Given the description of an element on the screen output the (x, y) to click on. 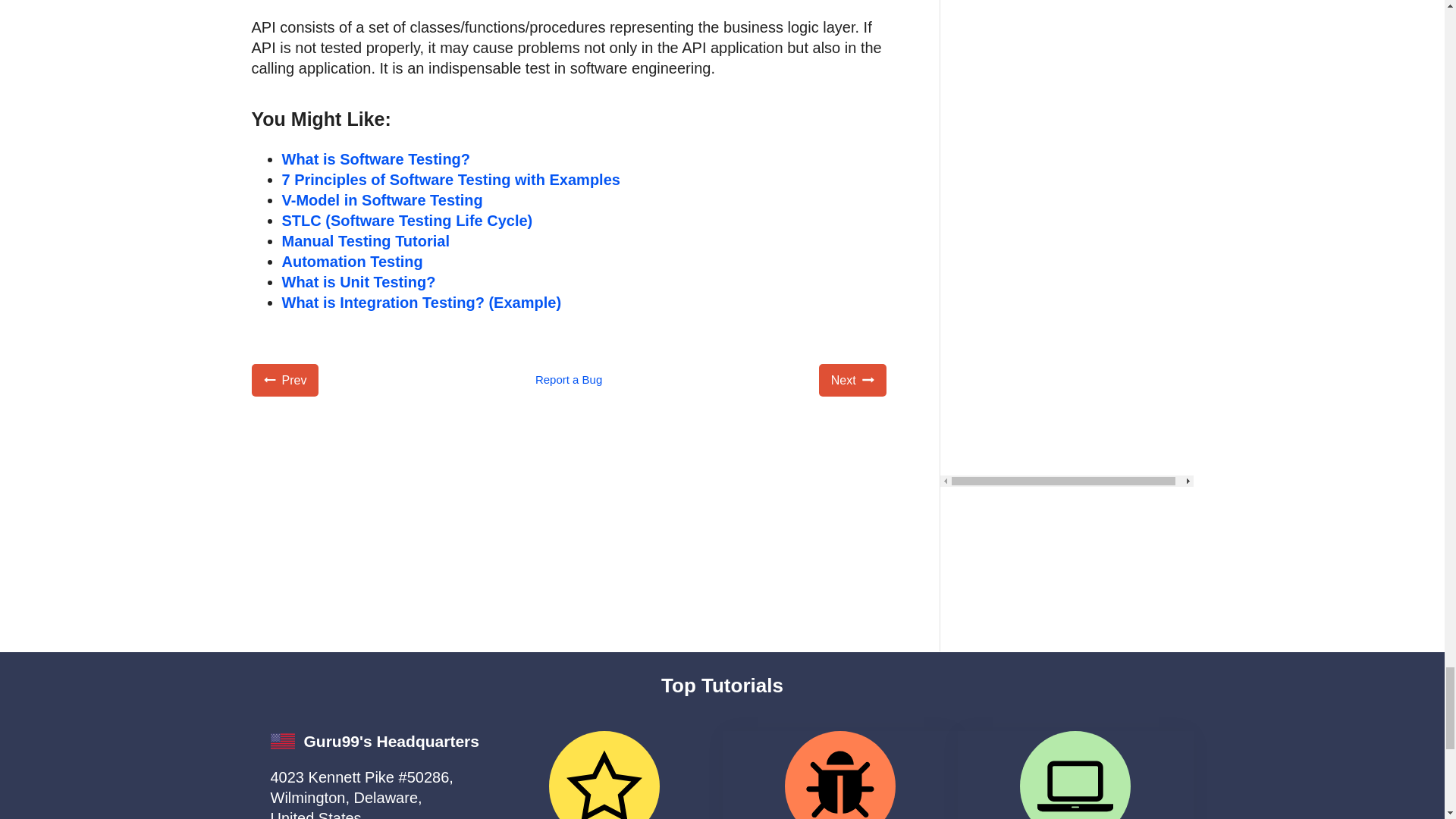
What is Unit Testing? (358, 281)
7 Principles of Software Testing with Examples (451, 179)
Automation Testing (352, 261)
What is Software Testing? (376, 158)
V-Model in Software Testing (382, 199)
Manual Testing Tutorial (365, 240)
